Given the description of an element on the screen output the (x, y) to click on. 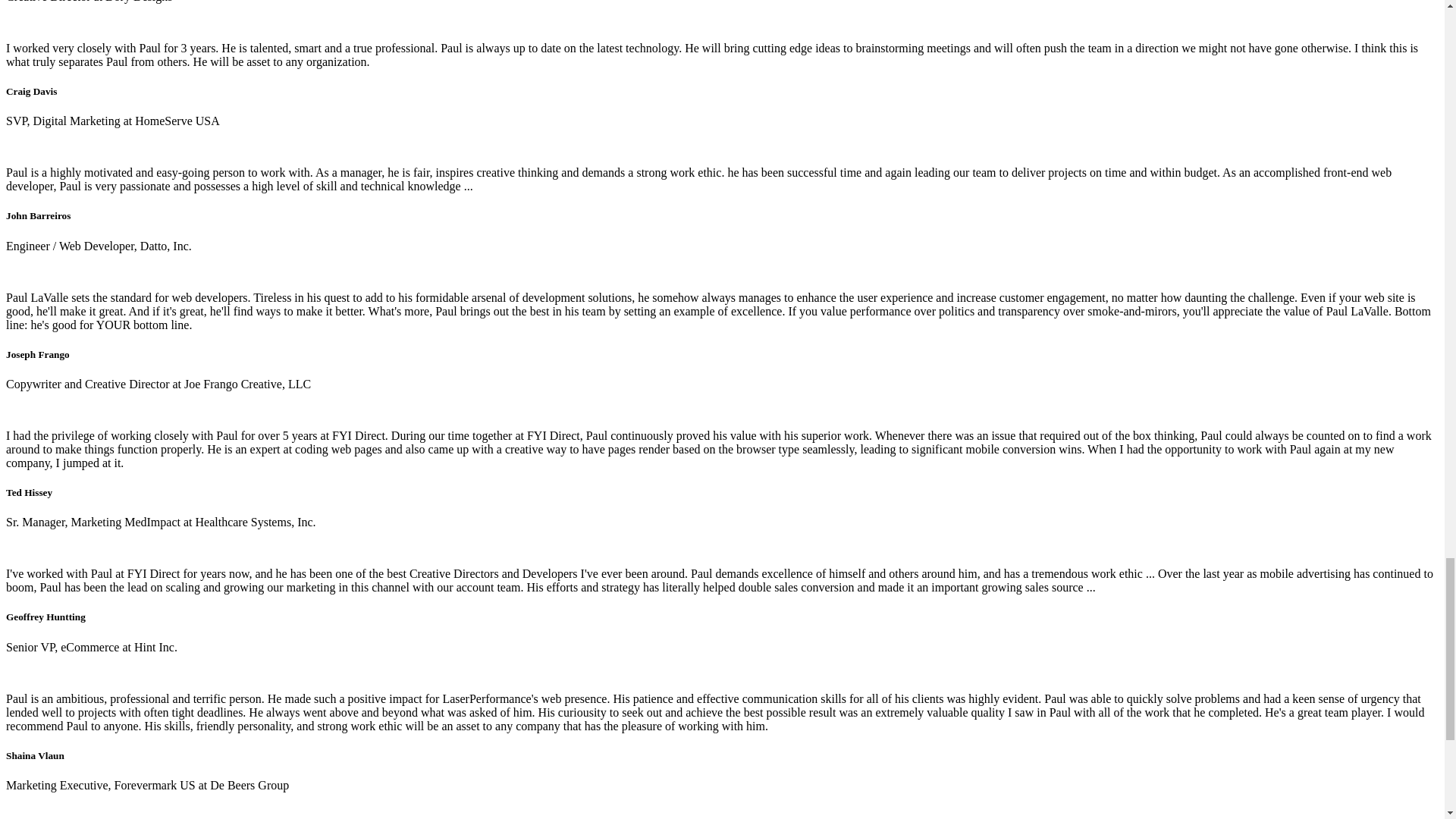
Joseph Frango (37, 354)
Shaina Vlaun (34, 755)
Geoffrey Huntting (45, 616)
John Barreiros (37, 215)
Ted Hissey (28, 491)
Craig Davis (30, 91)
